Given the description of an element on the screen output the (x, y) to click on. 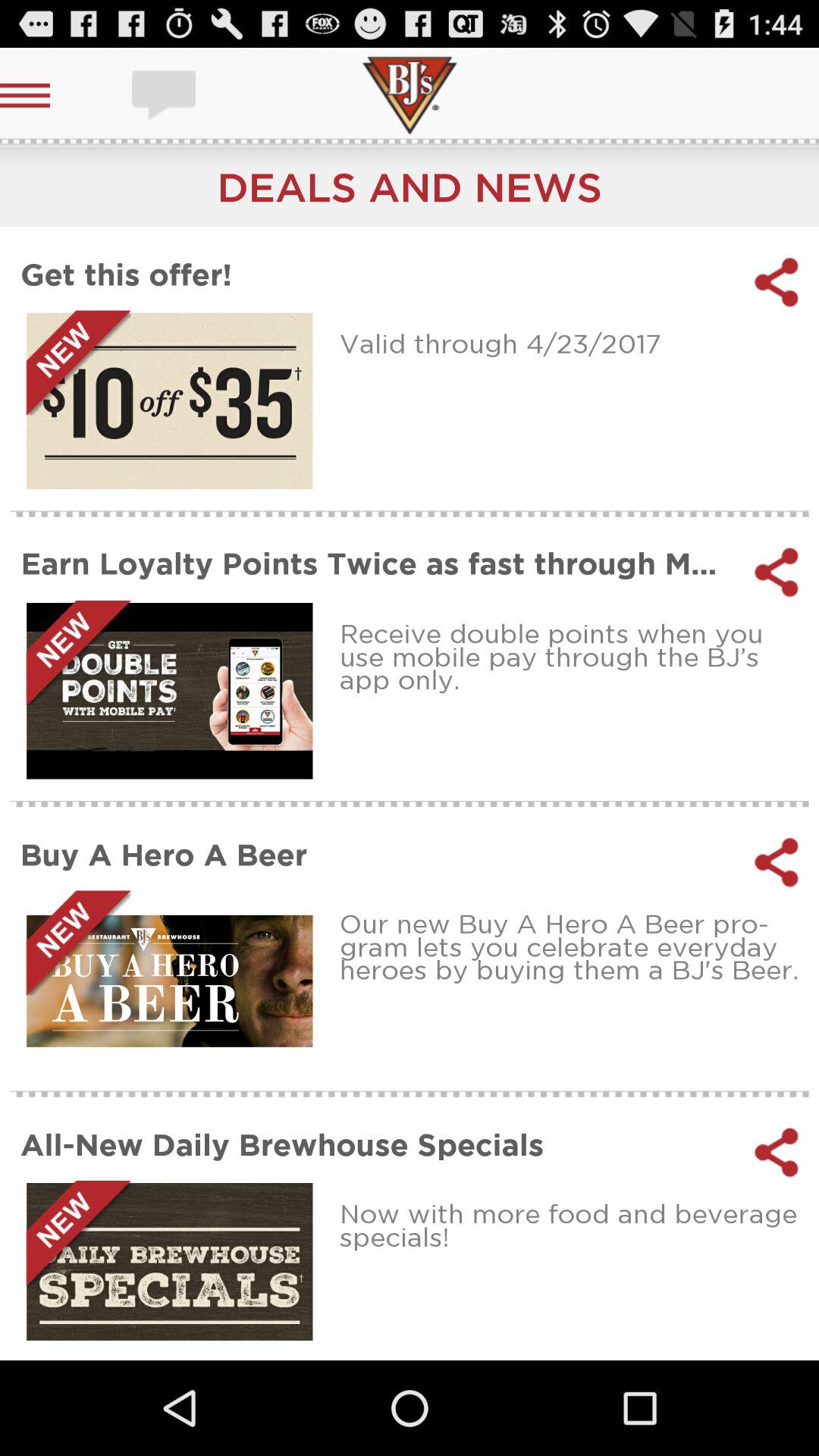
swipe until valid through 4 icon (573, 343)
